Given the description of an element on the screen output the (x, y) to click on. 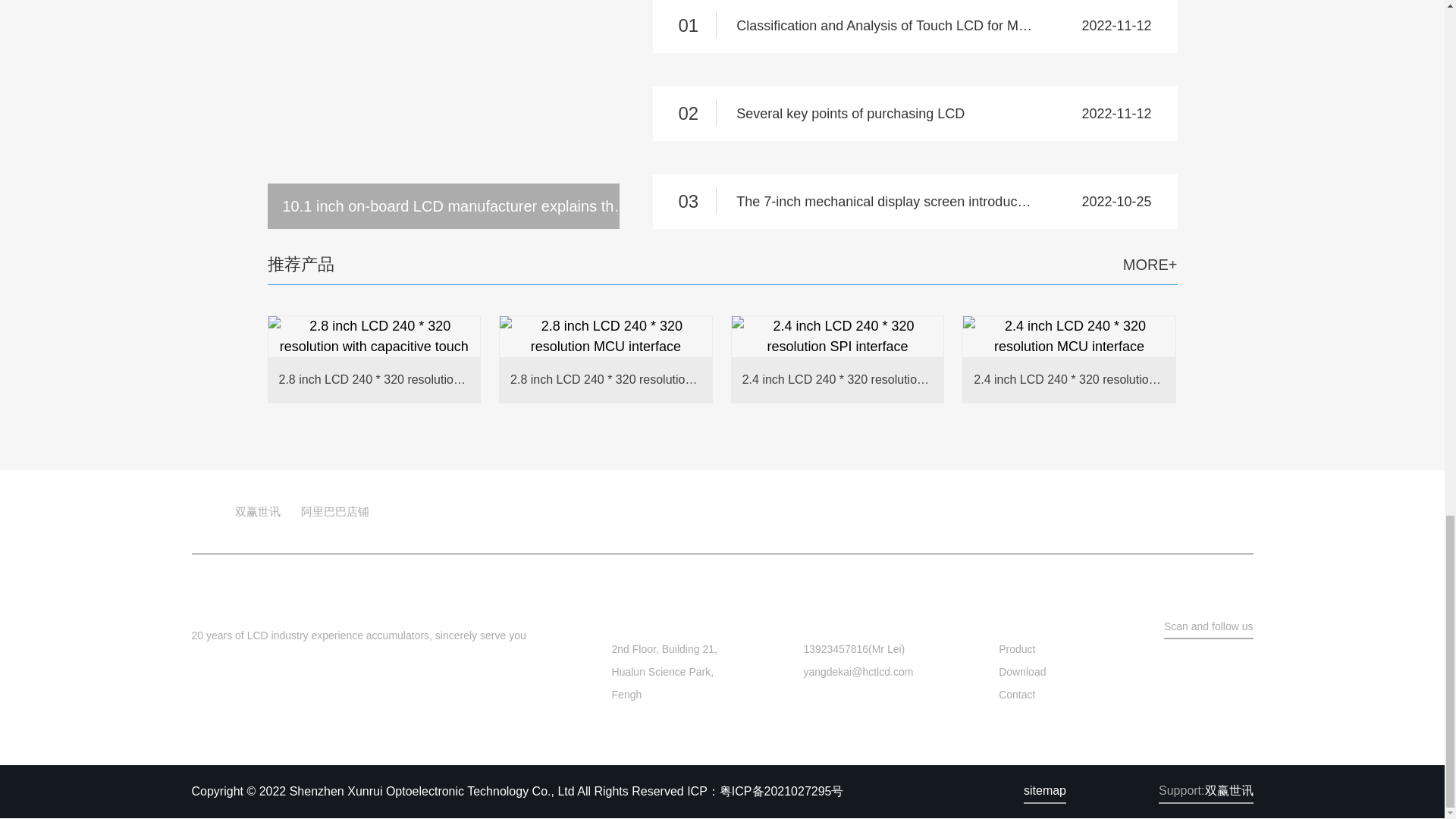
Several key points of purchasing LCD (914, 113)
Classification and Analysis of Touch LCD for Mobile Phone (914, 26)
